Given the description of an element on the screen output the (x, y) to click on. 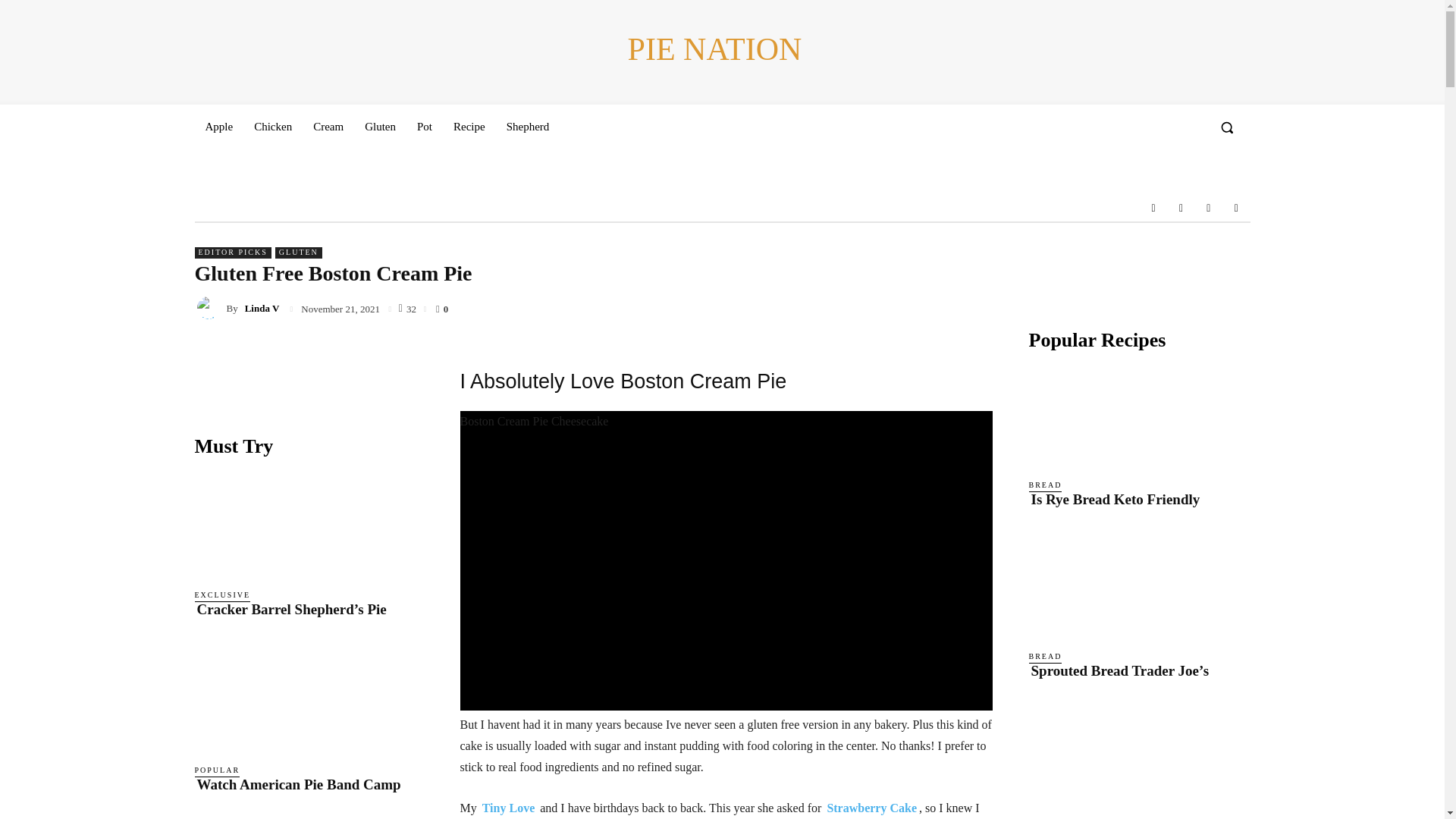
PIE NATION (713, 49)
Gluten (379, 126)
Chicken (272, 126)
Youtube (1236, 207)
Apple (218, 126)
Recipe (469, 126)
Cream (327, 126)
Instagram (1180, 207)
VKontakte (1209, 207)
Facebook (1153, 207)
